Given the description of an element on the screen output the (x, y) to click on. 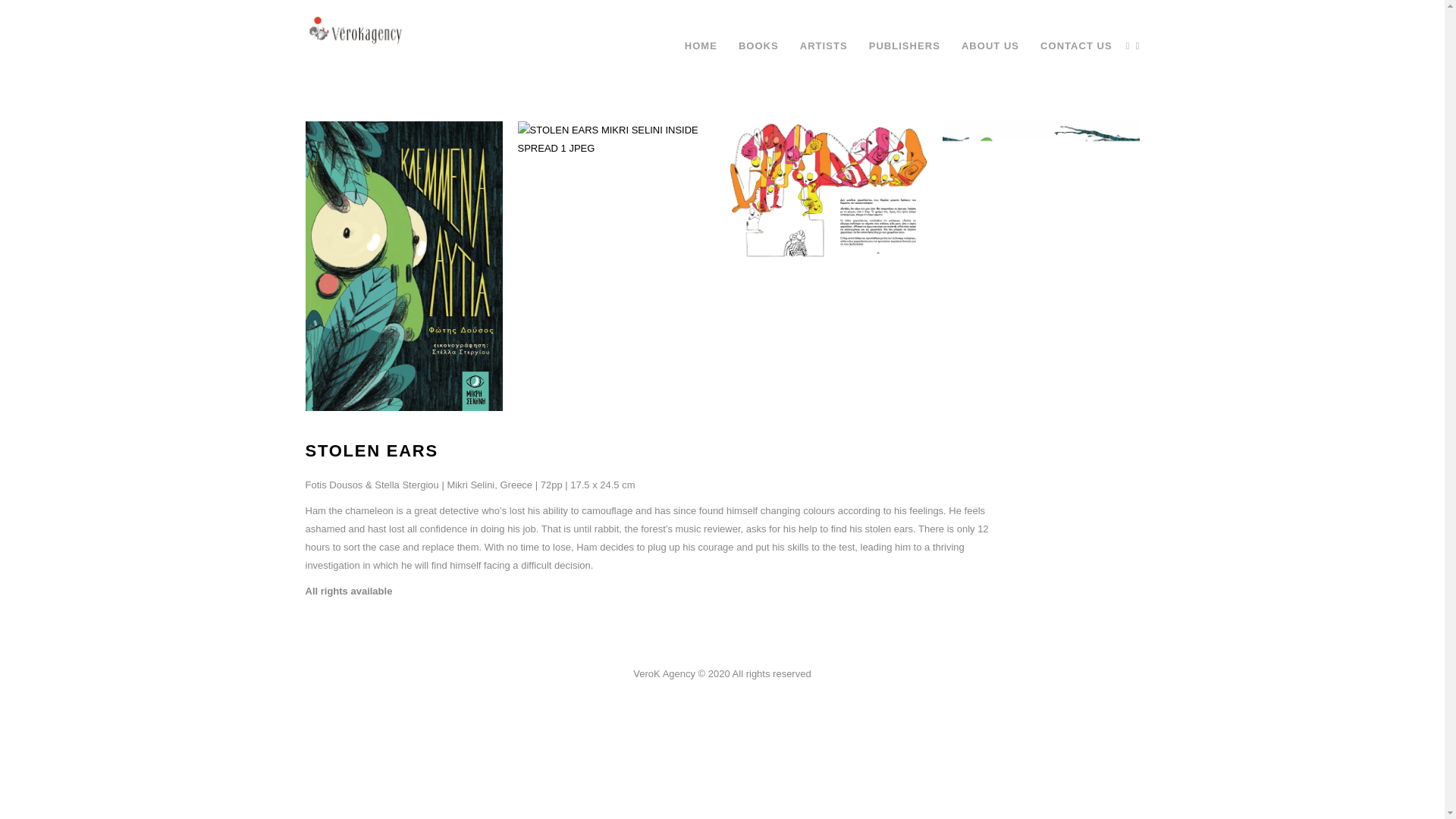
STOLEN EARS MIKRI SELINI INSIDE SPREAD 1 JPEG (615, 139)
CONTACT US (1075, 45)
PUBLISHERS (904, 45)
STOLEN EARS MIKRI SELINI INSIDE SPREAD 2 jpeg (827, 190)
STOLEN EARS MIKRI SELINI INSIDE SPREAD 3 jpeg (1040, 190)
